Given the description of an element on the screen output the (x, y) to click on. 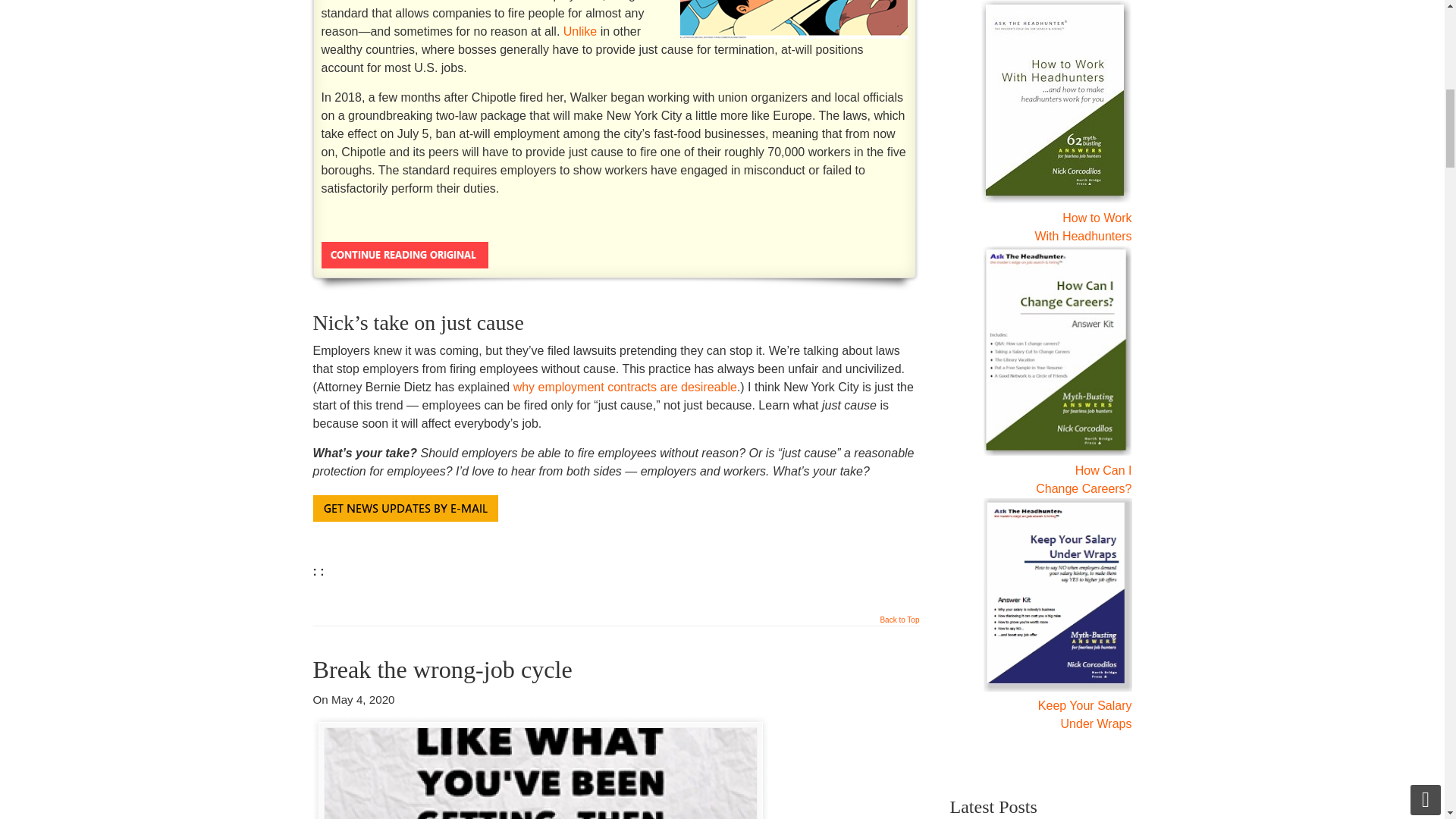
Unlike (579, 31)
Top of Page (898, 623)
why employment contracts are desireable (624, 386)
